Given the description of an element on the screen output the (x, y) to click on. 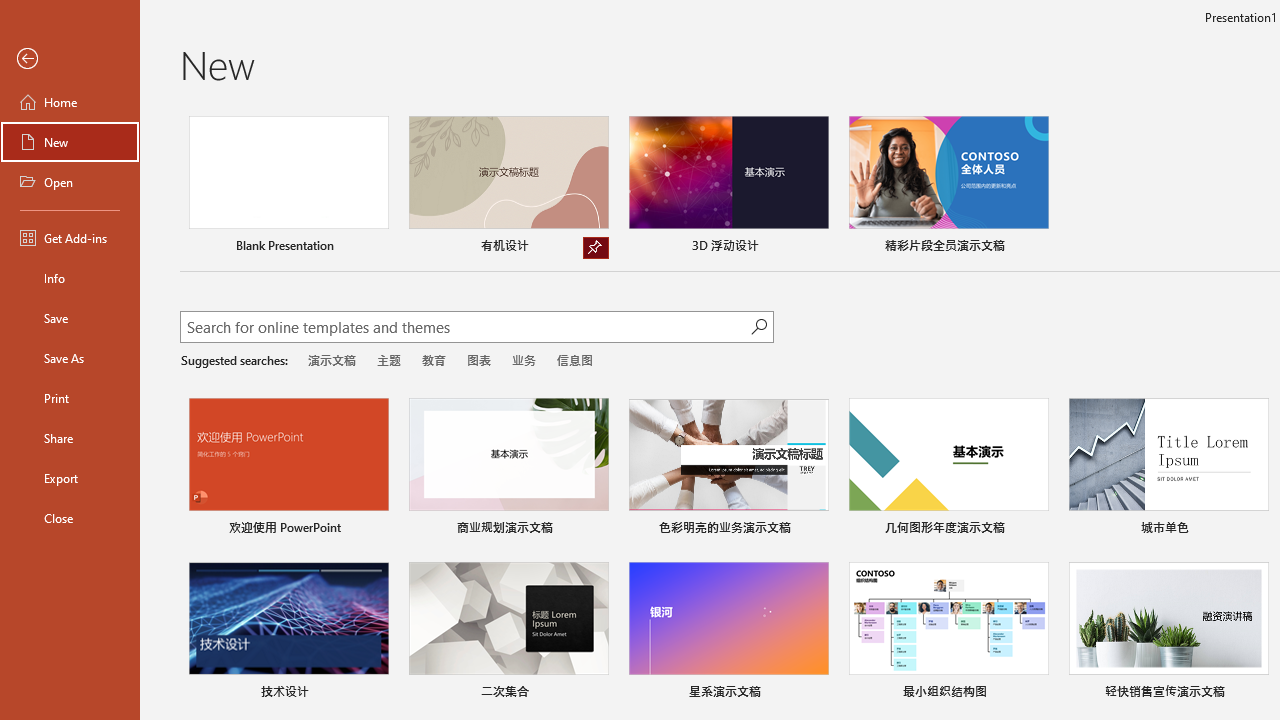
New (69, 141)
Print (69, 398)
Unpin from list (595, 247)
Blank Presentation (288, 187)
